Given the description of an element on the screen output the (x, y) to click on. 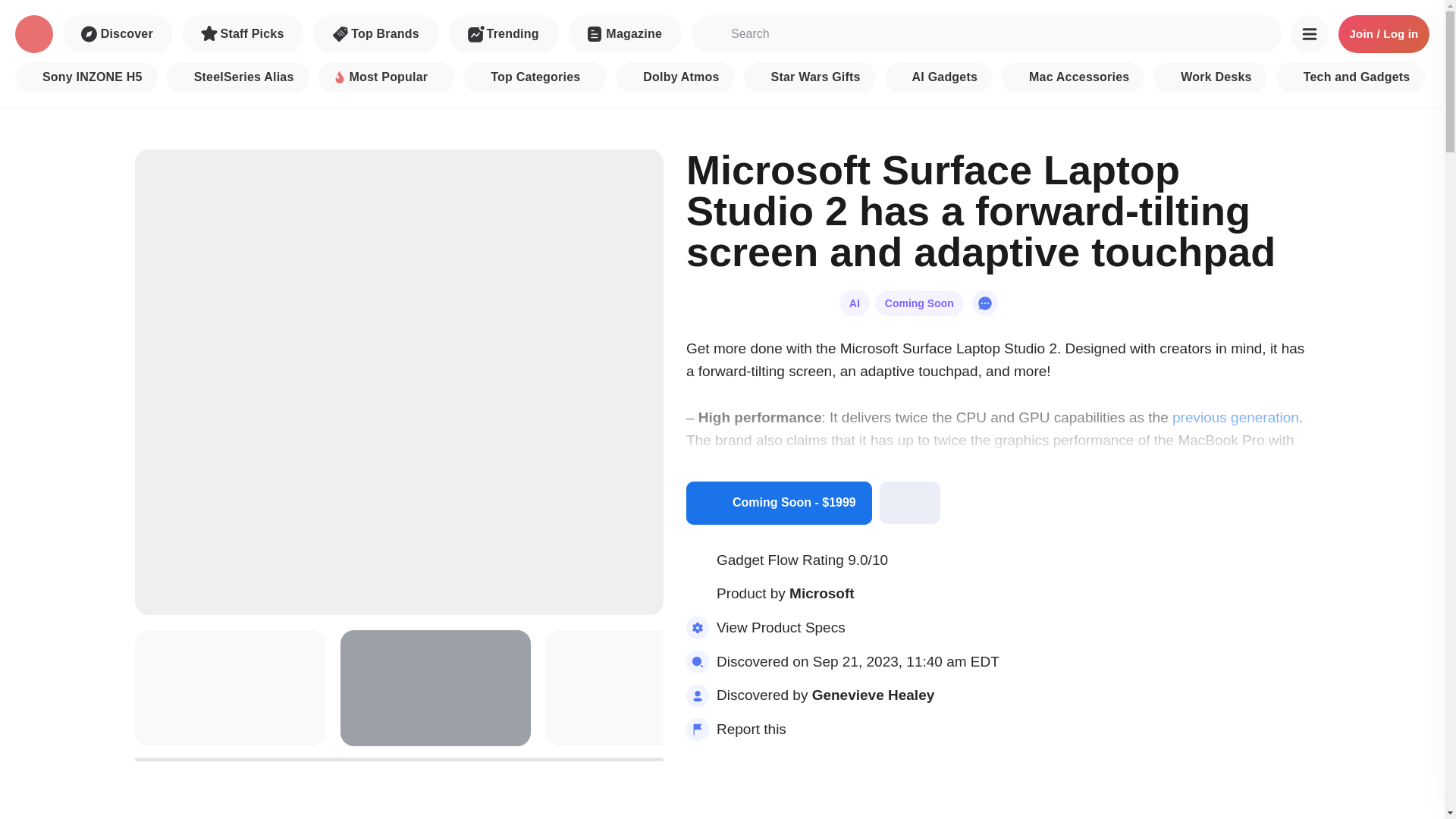
Star Wars Gifts (810, 77)
Staff Picks (243, 34)
Most Popular (386, 77)
SteelSeries Alias (237, 77)
Top Categories (535, 77)
Mac Accessories (1072, 77)
Top Brands (376, 34)
Discover (117, 34)
Tech and Gadgets (1350, 77)
Sony INZONE H5 (85, 77)
